Given the description of an element on the screen output the (x, y) to click on. 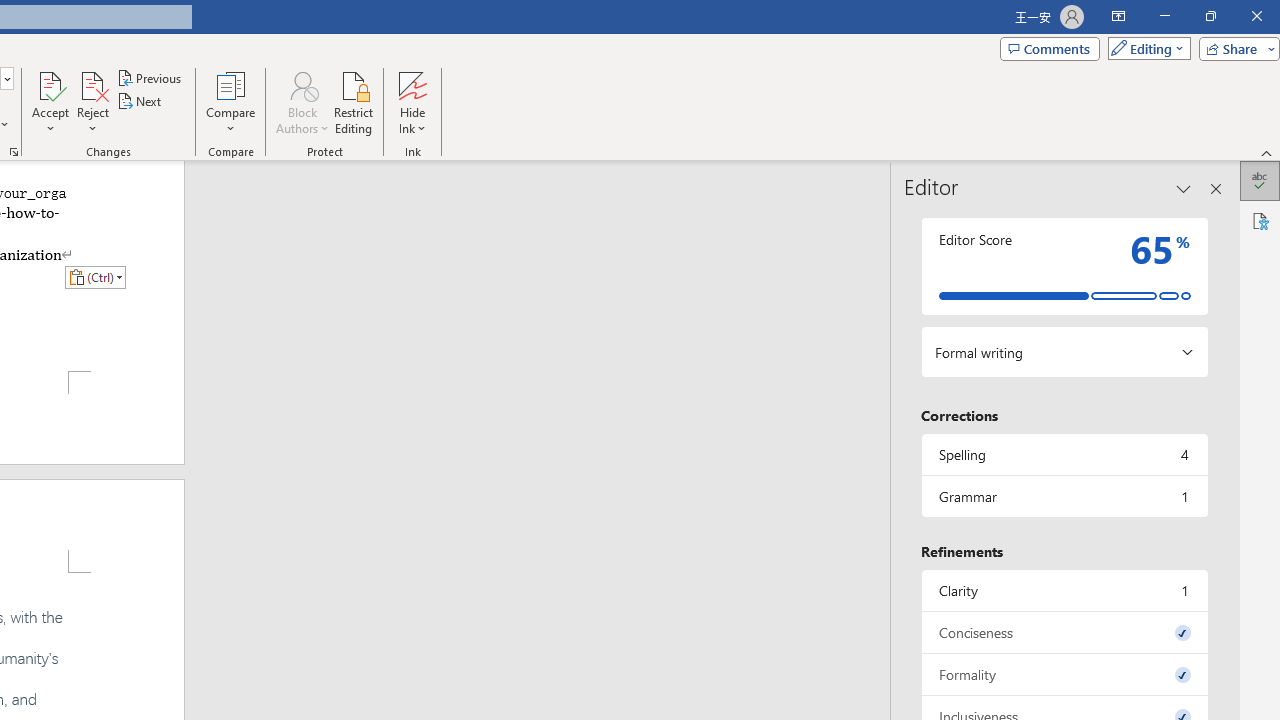
Block Authors (302, 102)
Action: Paste alternatives (95, 276)
Accept (50, 102)
Hide Ink (412, 102)
Change Tracking Options... (13, 151)
Reject (92, 102)
